Given the description of an element on the screen output the (x, y) to click on. 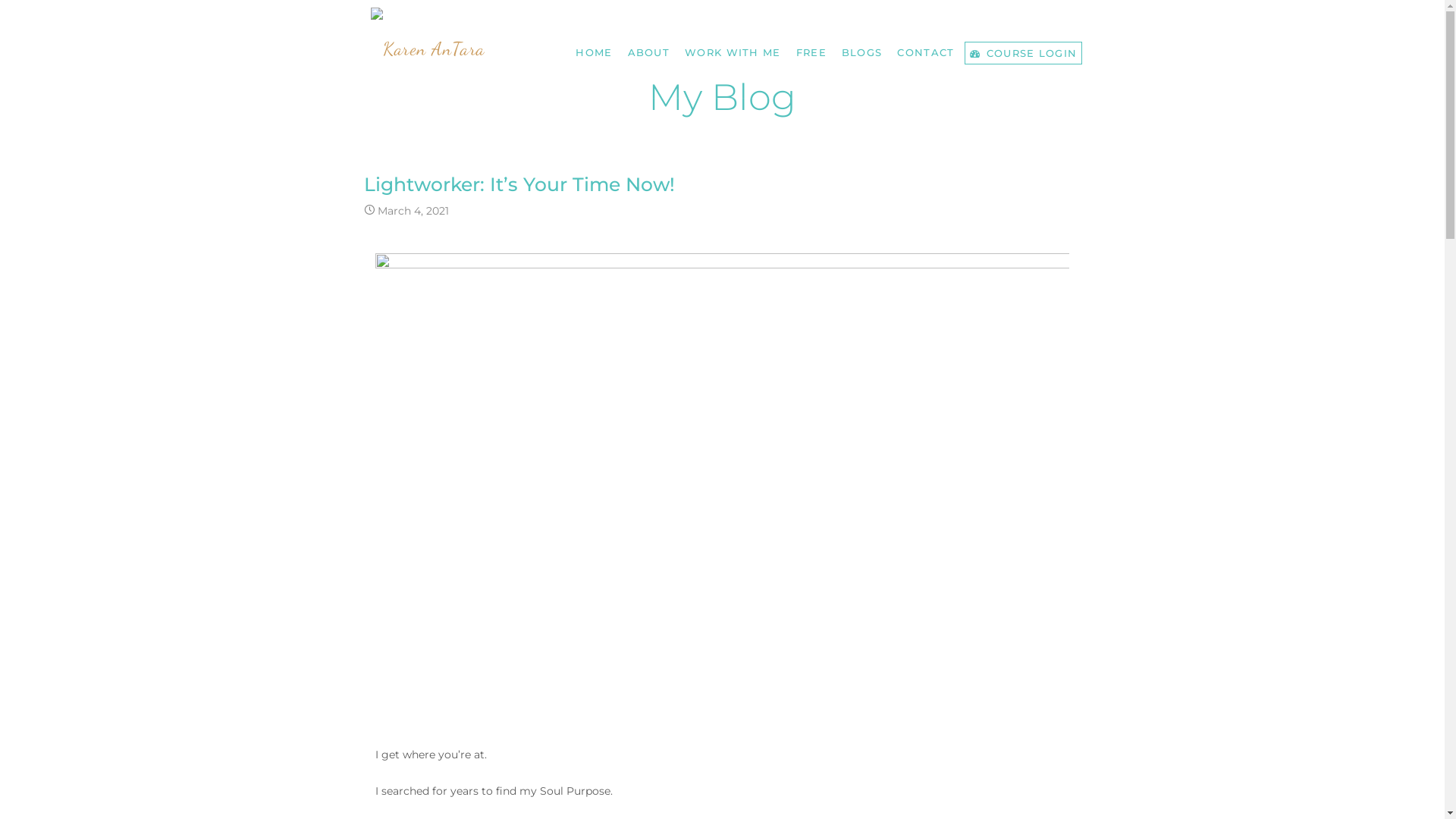
 COURSE LOGIN Element type: text (1023, 52)
ABOUT Element type: text (648, 51)
HOME Element type: text (593, 51)
BLOGS Element type: text (862, 51)
WORK WITH ME Element type: text (732, 51)
FREE Element type: text (811, 51)
CONTACT Element type: text (925, 51)
